Given the description of an element on the screen output the (x, y) to click on. 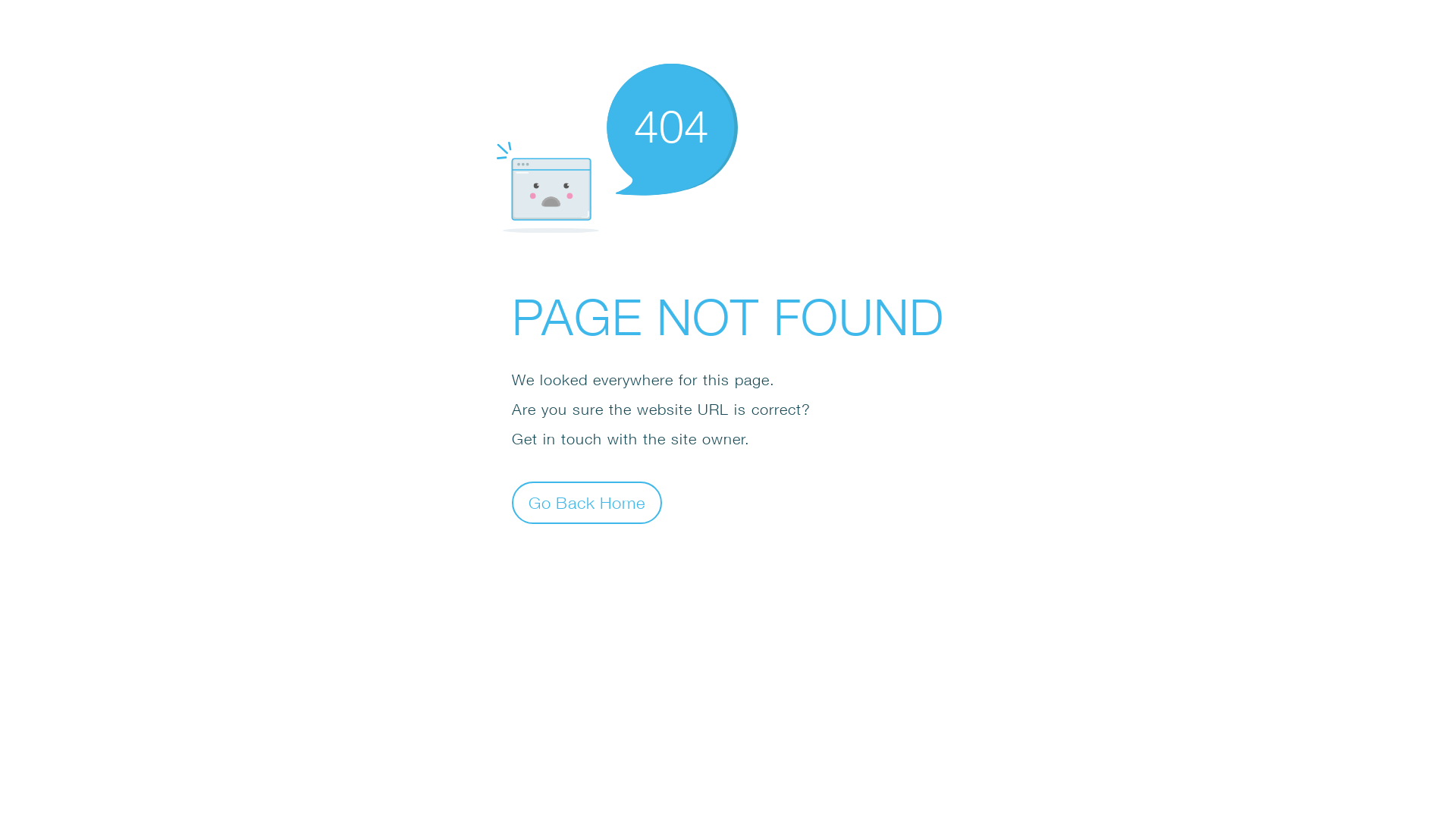
Go Back Home Element type: text (586, 502)
